Given the description of an element on the screen output the (x, y) to click on. 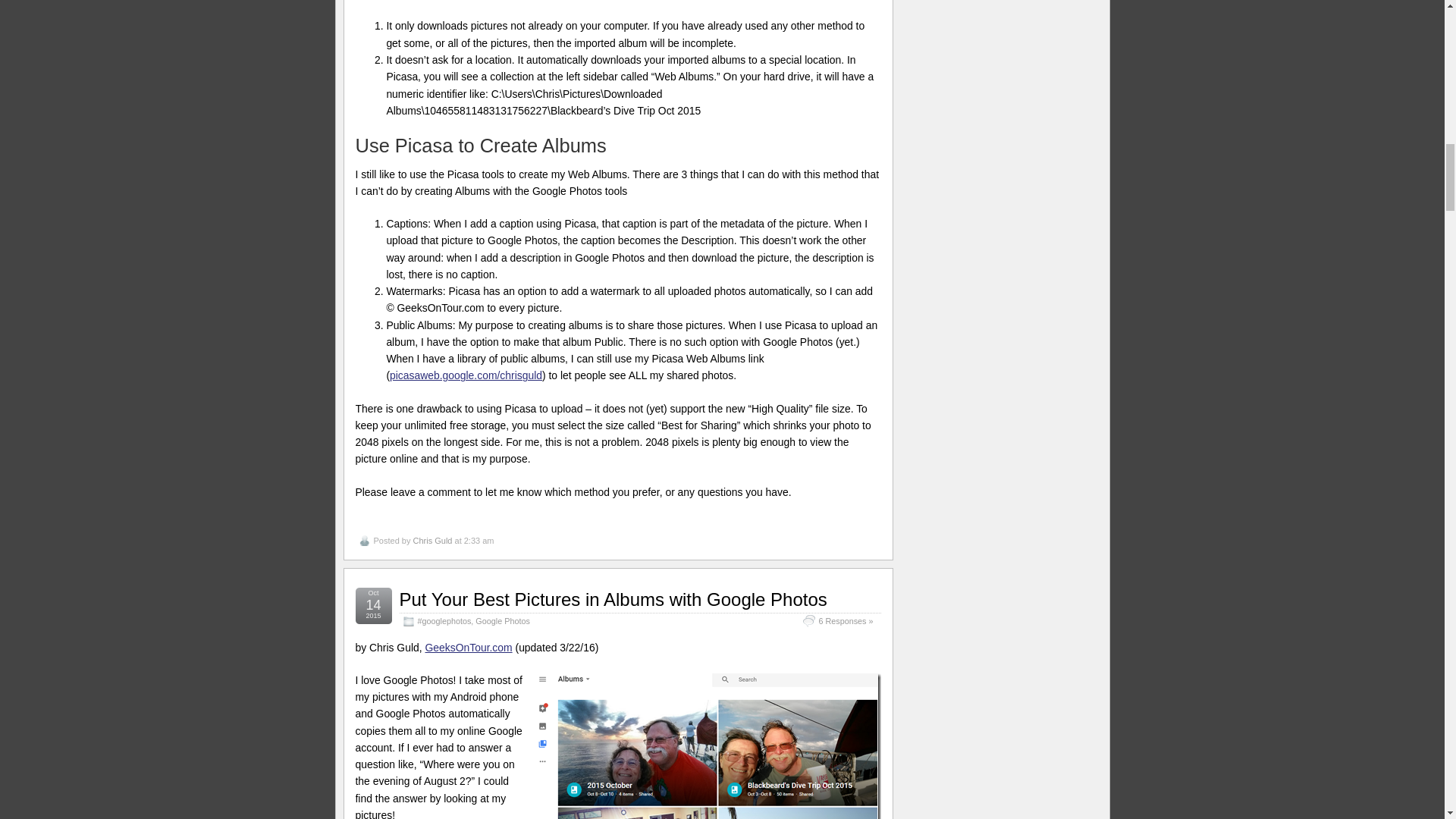
Put Your Best Pictures in Albums with Google Photos (612, 598)
GeeksOnTour.com (468, 647)
Put Your Best Pictures in Albums with Google Photos (612, 598)
Google Photos (502, 620)
Chris Guld (431, 540)
image (706, 746)
